Given the description of an element on the screen output the (x, y) to click on. 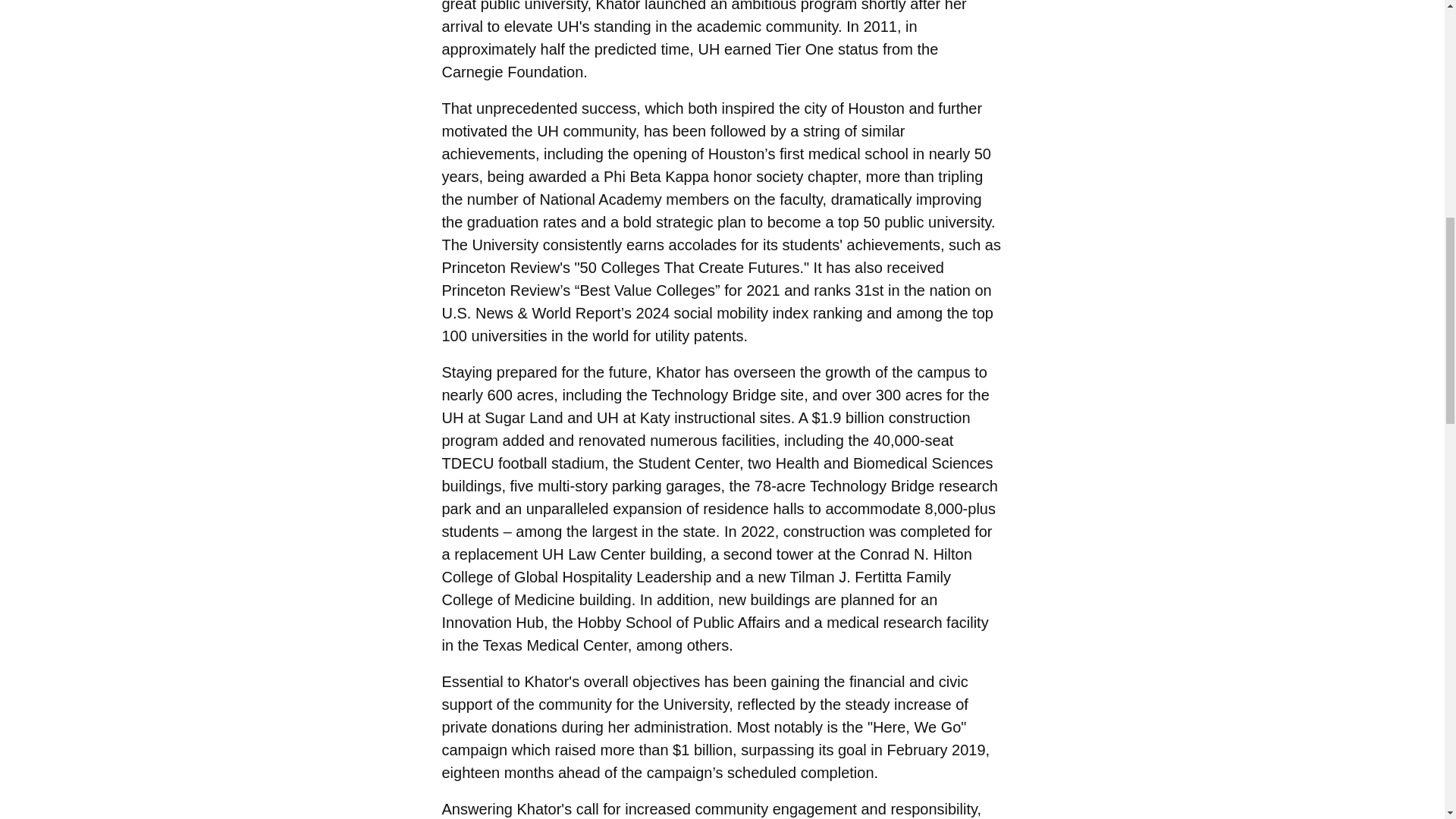
University of Houston (568, 26)
University of Houston (607, 417)
University of Houston (708, 48)
University of Houston (452, 417)
University of Houston (548, 130)
